Given the description of an element on the screen output the (x, y) to click on. 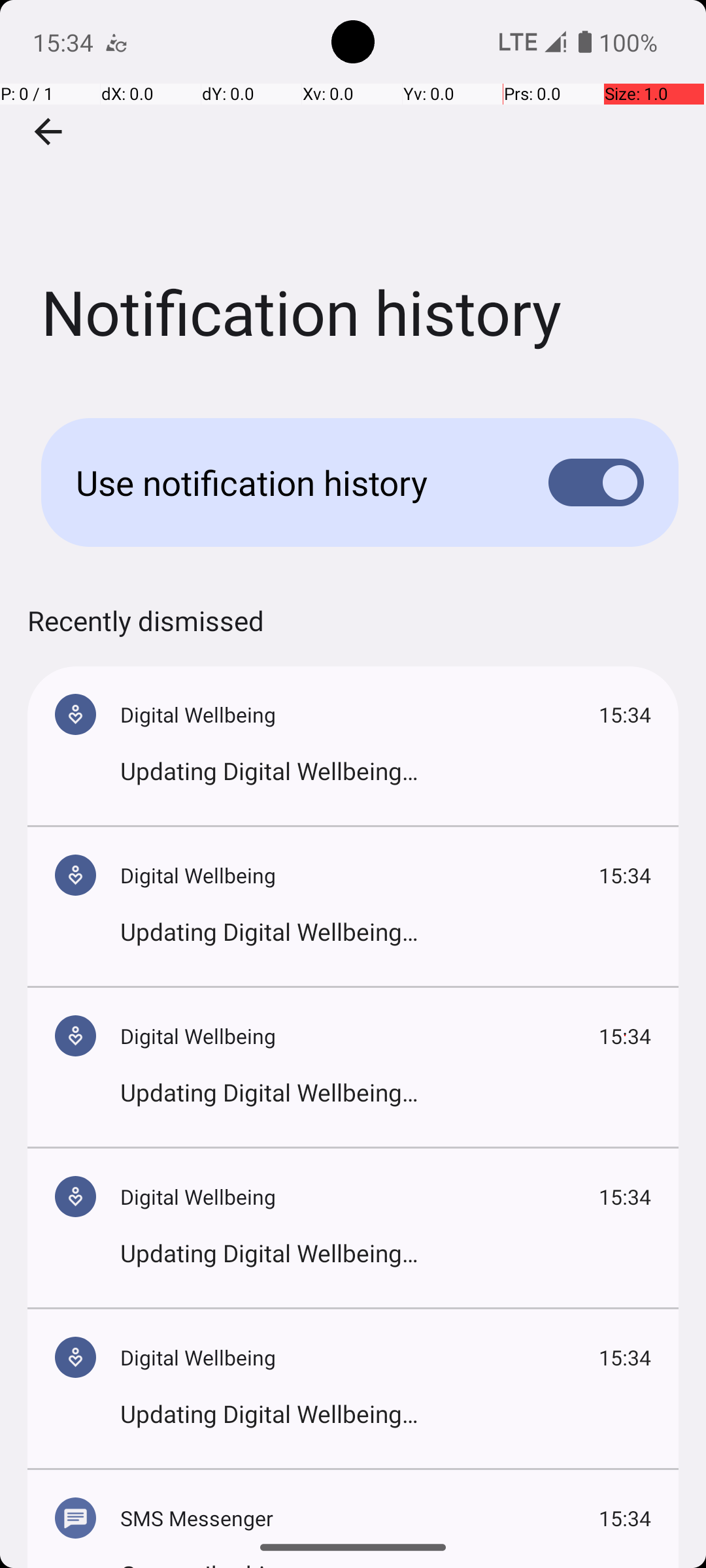
Recently dismissed Element type: android.widget.TextView (145, 633)
Updating Digital Wellbeing… Element type: android.widget.TextView (385, 770)
